Given the description of an element on the screen output the (x, y) to click on. 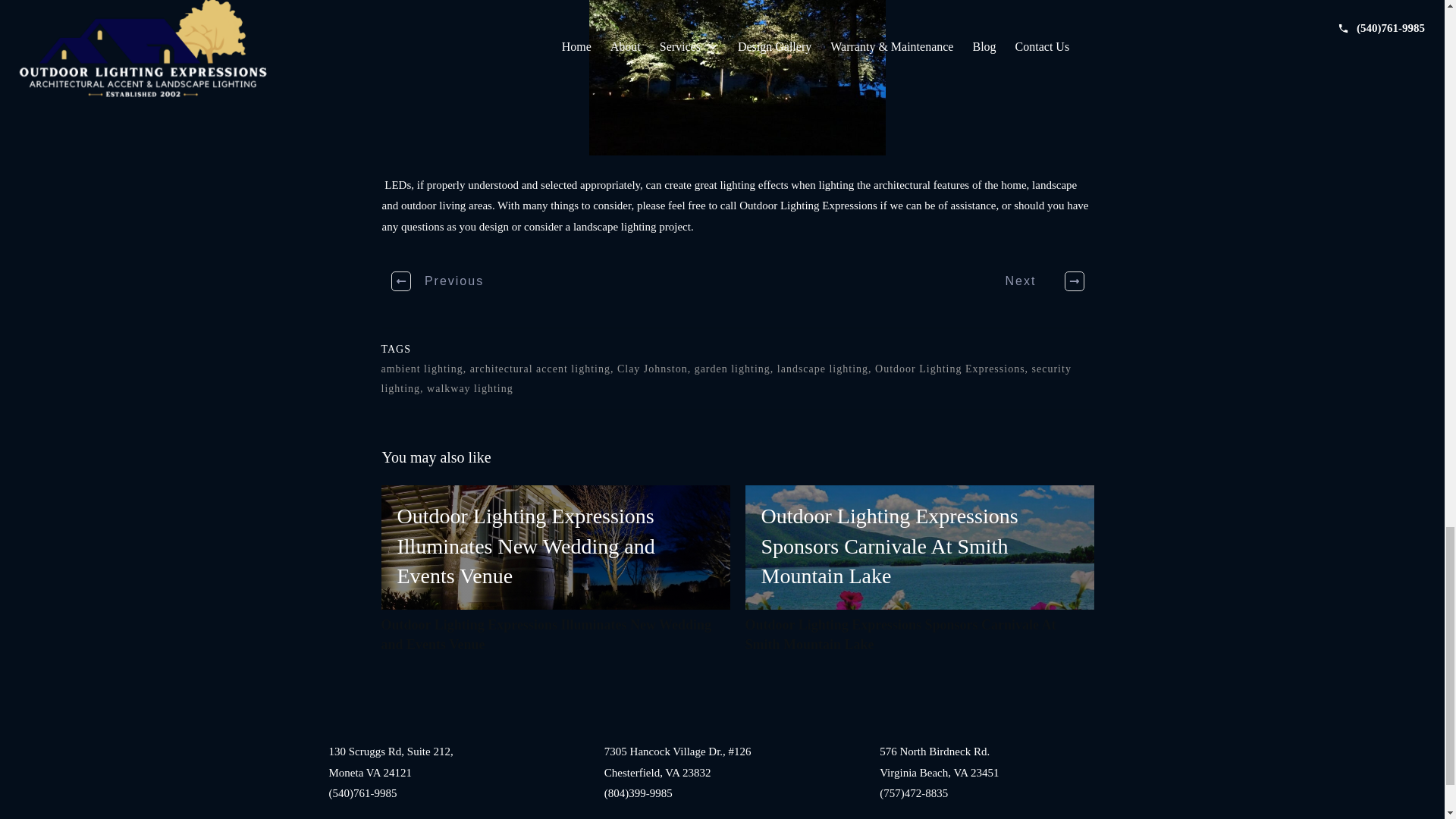
Wattsman-Ornamental-Trees (737, 77)
Previous (438, 281)
Next (1036, 281)
